Given the description of an element on the screen output the (x, y) to click on. 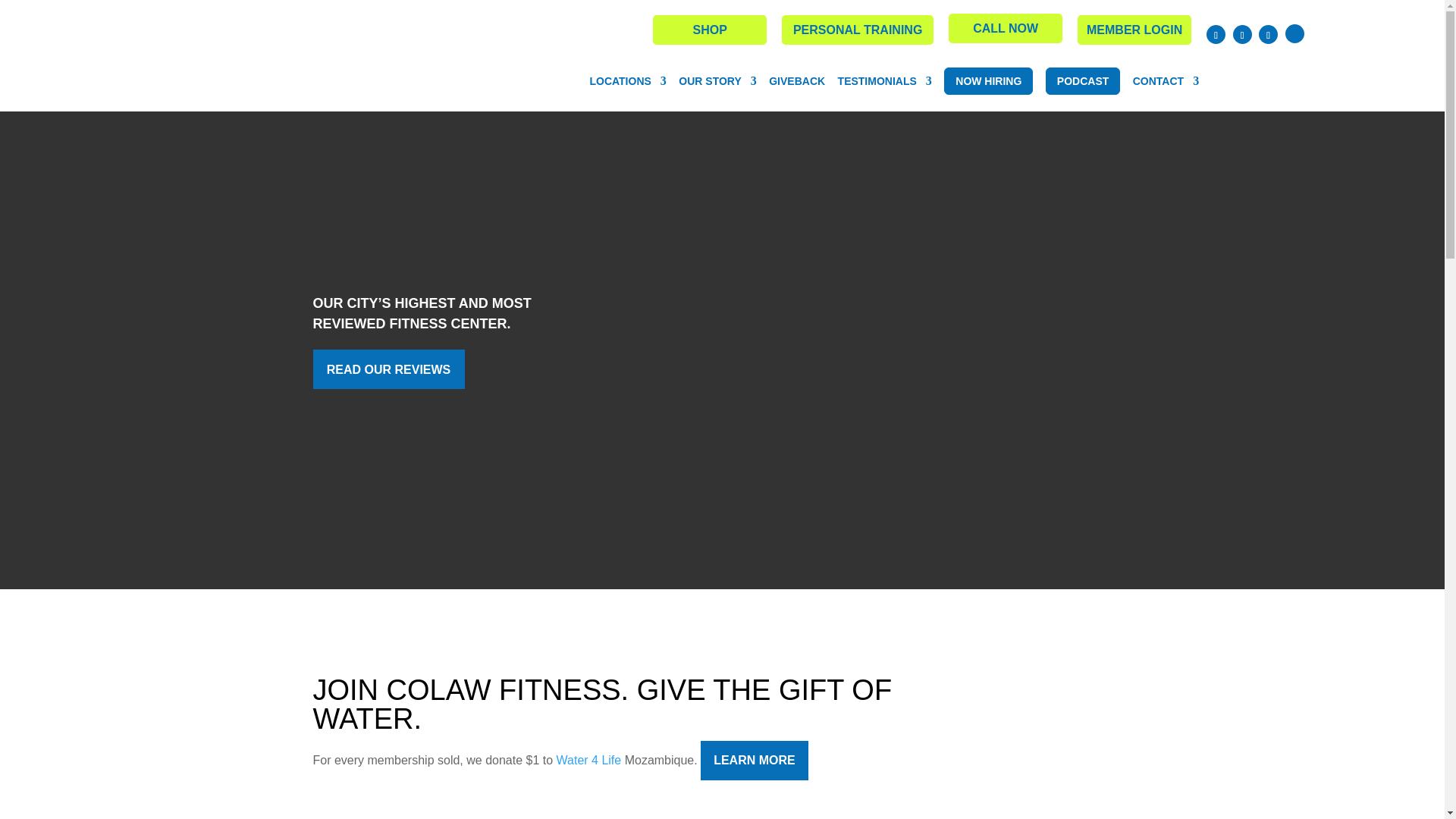
CALL NOW (1005, 28)
READ OUR REVIEWS (388, 369)
NOW HIRING (987, 81)
MEMBER LOGIN (1134, 30)
TESTIMONIALS (884, 81)
PERSONAL TRAINING (857, 30)
CONTACT (1165, 81)
SHOP (709, 30)
LOCATIONS (627, 81)
Water 4 Life (588, 759)
